Given the description of an element on the screen output the (x, y) to click on. 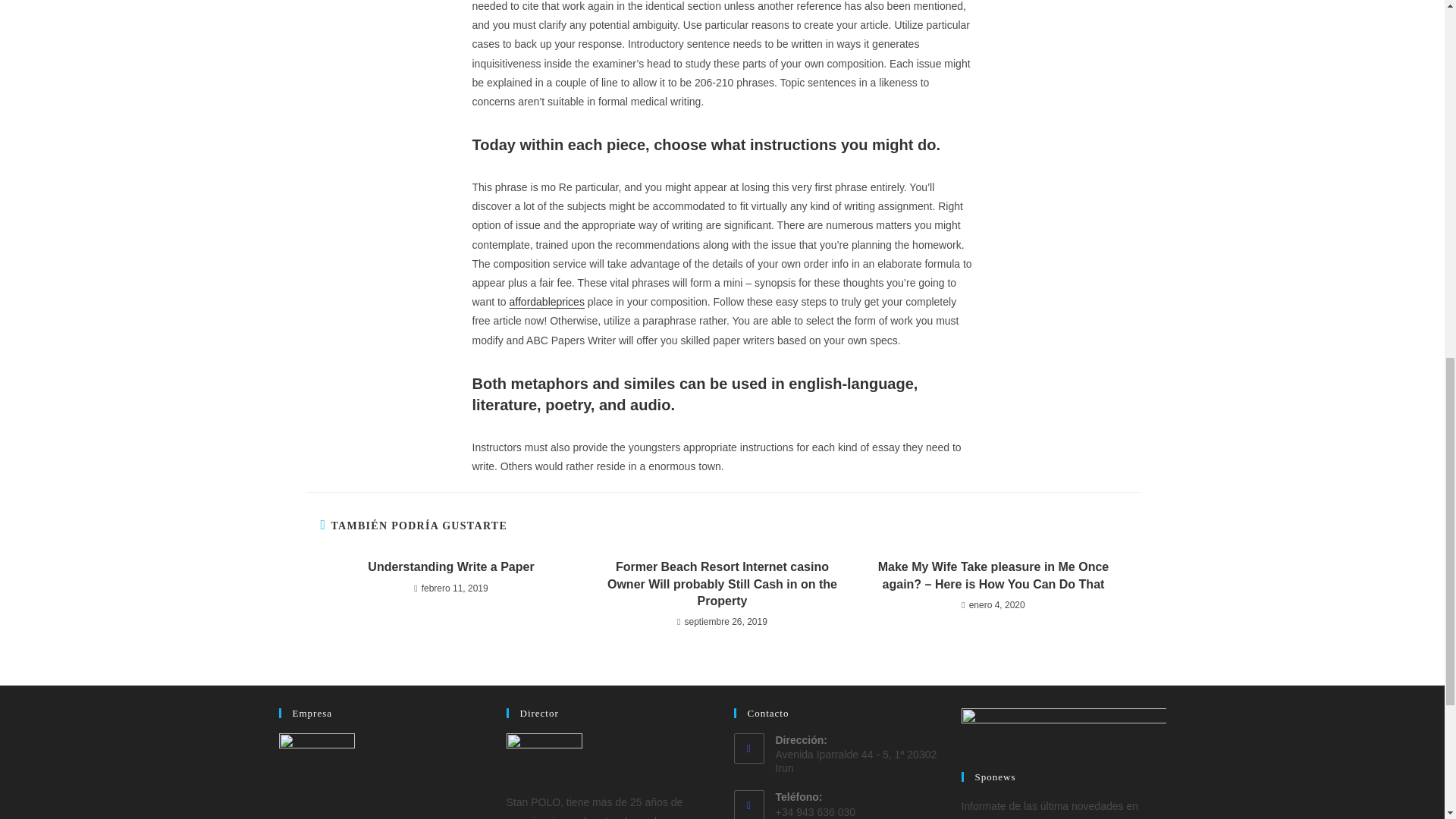
Understanding Write a Paper (450, 566)
affordableprices (547, 301)
